Given the description of an element on the screen output the (x, y) to click on. 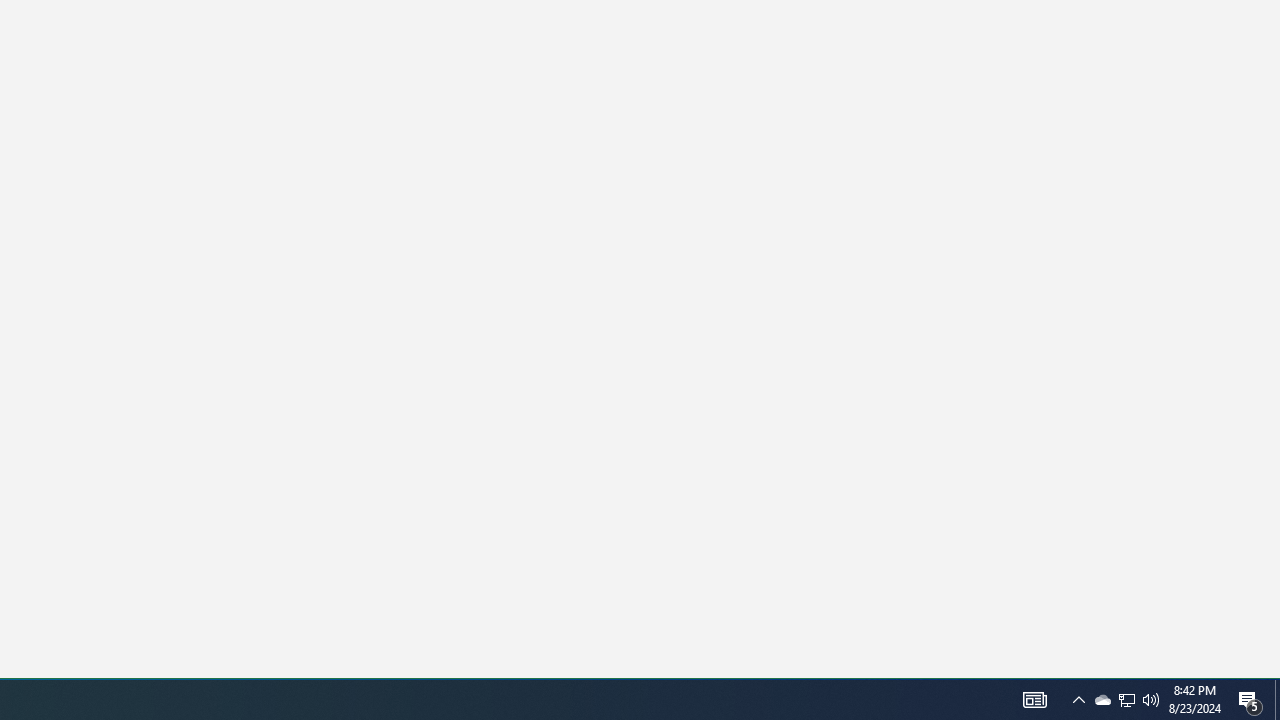
Show desktop (1277, 699)
Q2790: 100% (1151, 699)
User Promoted Notification Area (1126, 699)
Notification Chevron (1126, 699)
Action Center, 5 new notifications (1078, 699)
AutomationID: 4105 (1250, 699)
